Given the description of an element on the screen output the (x, y) to click on. 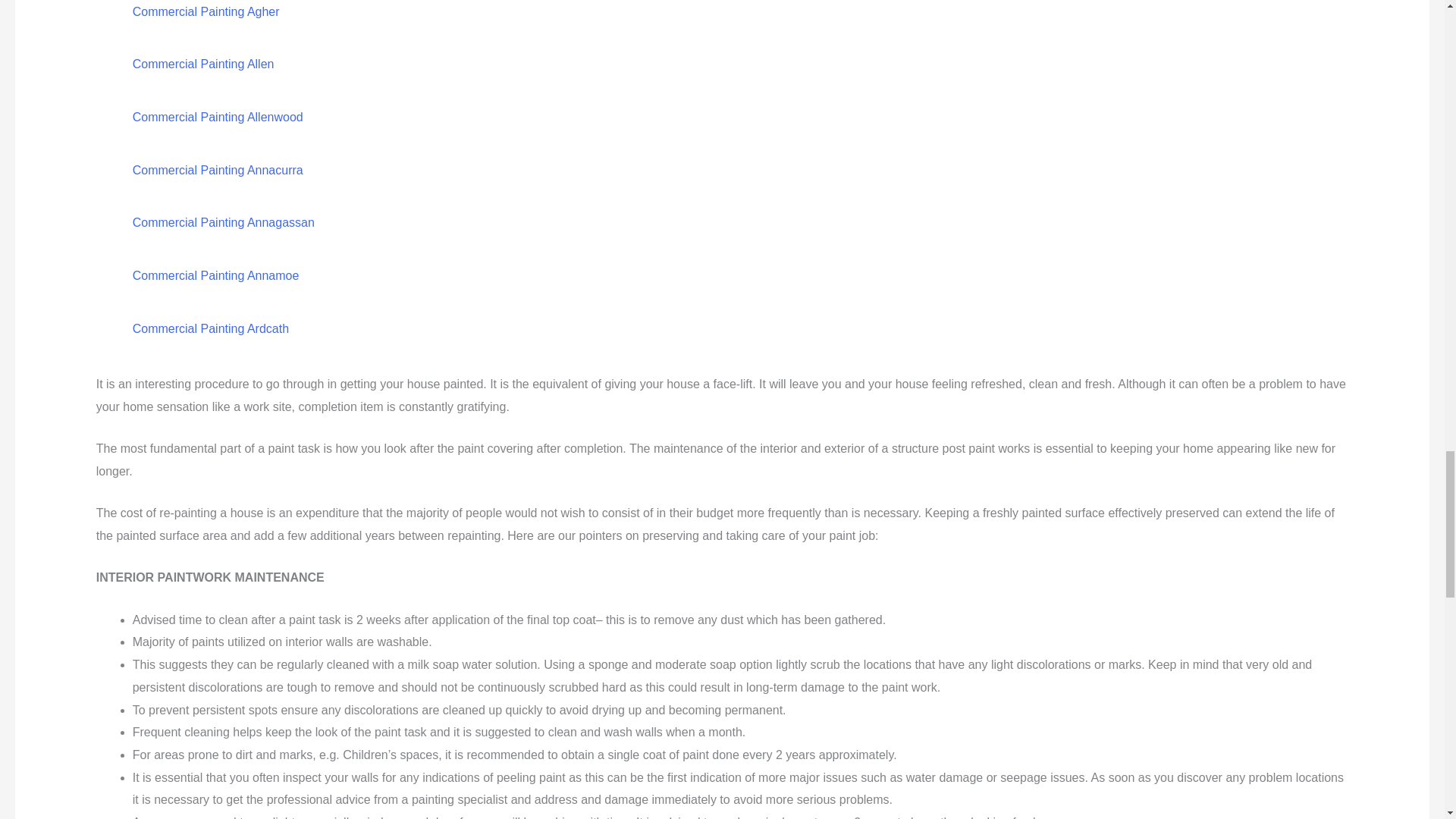
Commercial Painting Ardcath (210, 328)
Commercial Painting Ardcath (210, 328)
Commercial Painting Agher (205, 10)
Commercial Painting Allenwood (217, 116)
Commercial Painting Annacurra (217, 169)
Commercial Painting Annagassan (223, 222)
Commercial Painting Annamoe (215, 275)
Commercial Painting Annamoe (215, 275)
Commercial Painting Annacurra (217, 169)
Commercial Painting Allen (203, 63)
Commercial Painting Annagassan (223, 222)
Commercial Painting Agher (205, 10)
Commercial Painting Allen (203, 63)
Commercial Painting Allenwood (217, 116)
